Given the description of an element on the screen output the (x, y) to click on. 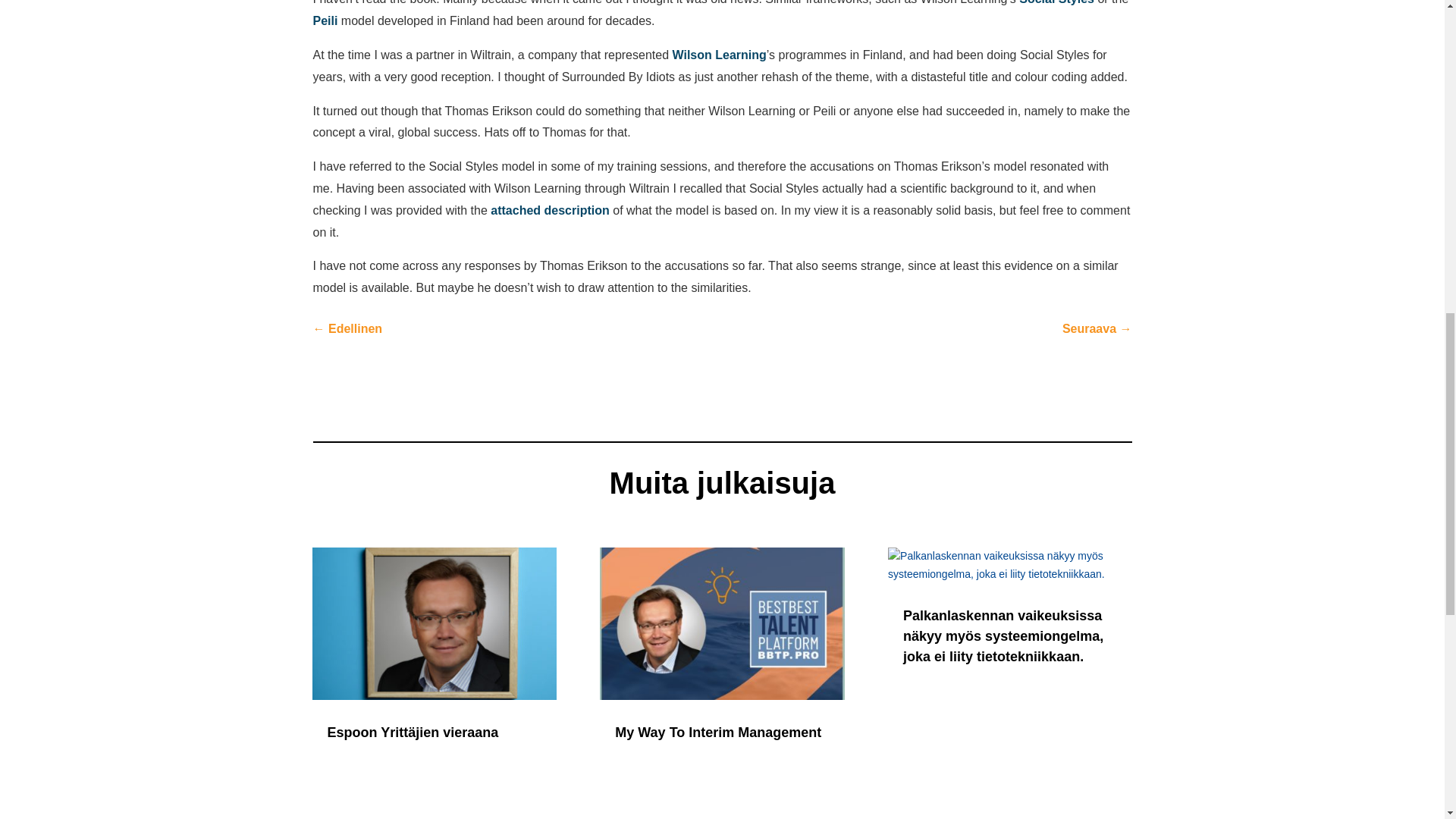
Peili (325, 20)
attached description (549, 210)
Social Styles (1056, 2)
Wilson Learning (718, 54)
